Given the description of an element on the screen output the (x, y) to click on. 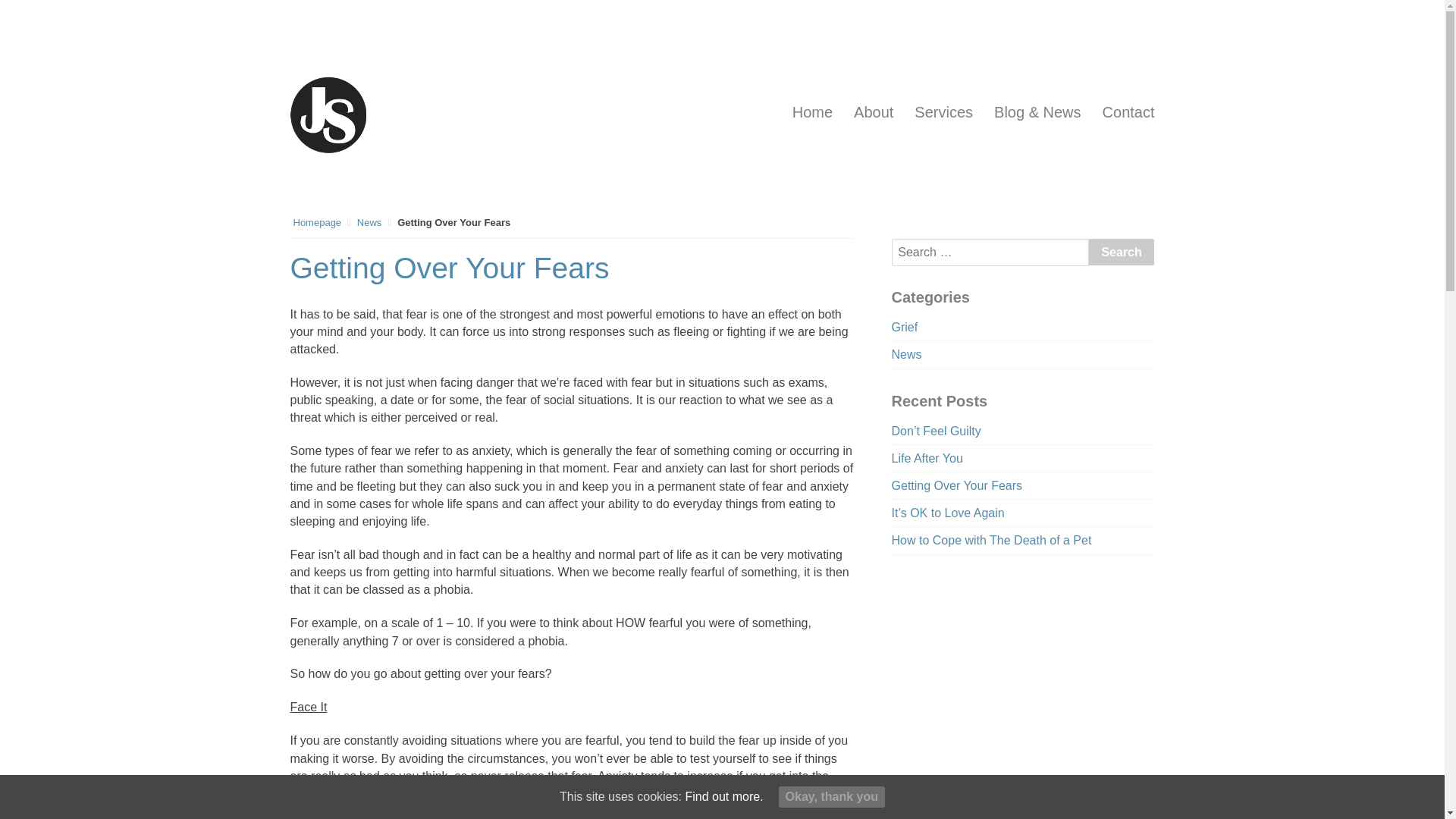
Getting Over Your Fears (957, 485)
Homepage (316, 222)
Grief (904, 327)
Search (1121, 252)
Life After You (926, 458)
About (873, 112)
Home (812, 112)
News (368, 222)
Services (943, 112)
Search (1121, 252)
News (906, 354)
How to Cope with The Death of a Pet (991, 540)
Homepage (316, 222)
Contact (1128, 112)
Search (1121, 252)
